Given the description of an element on the screen output the (x, y) to click on. 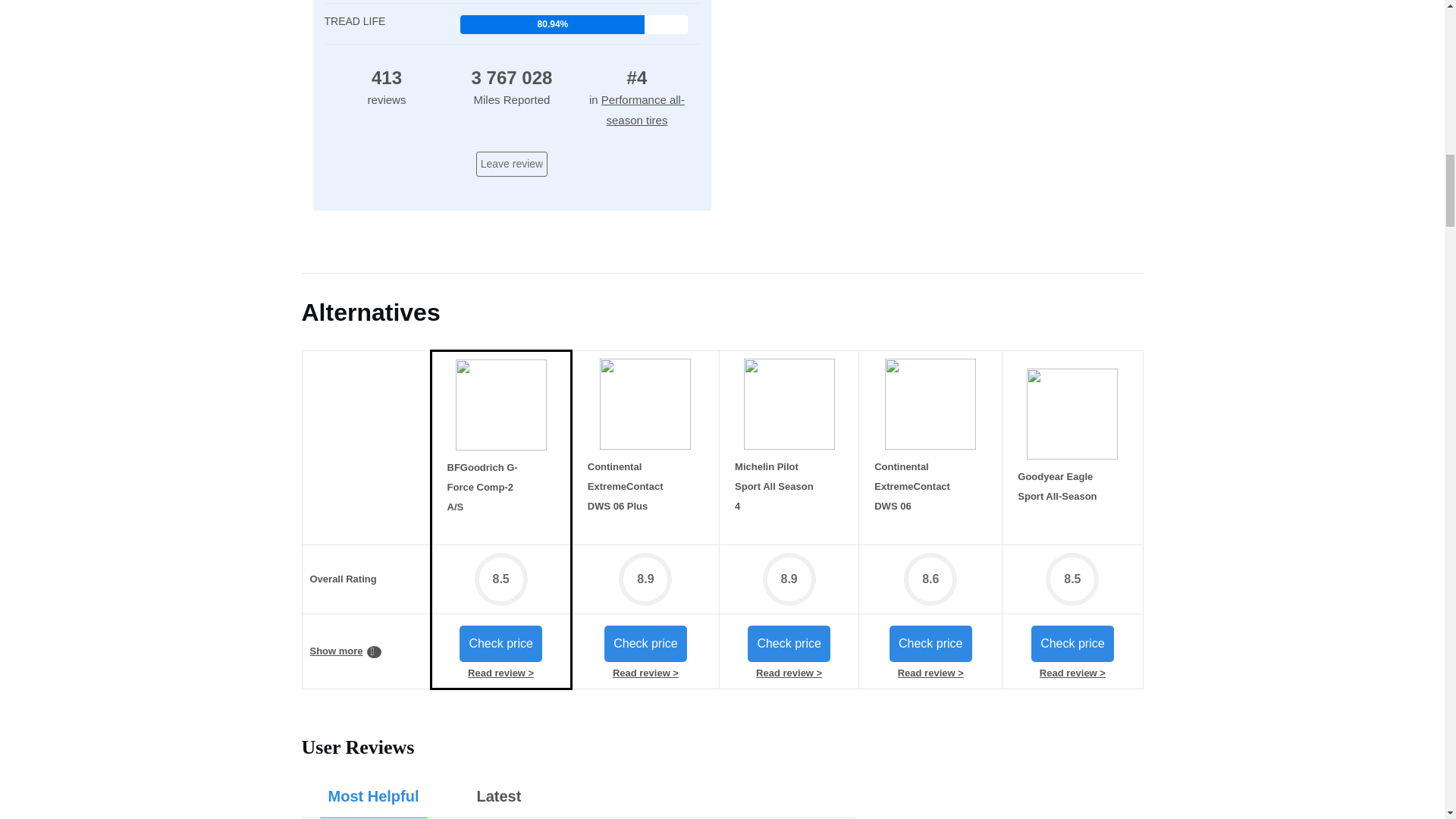
Performance all-season tires (642, 109)
